Given the description of an element on the screen output the (x, y) to click on. 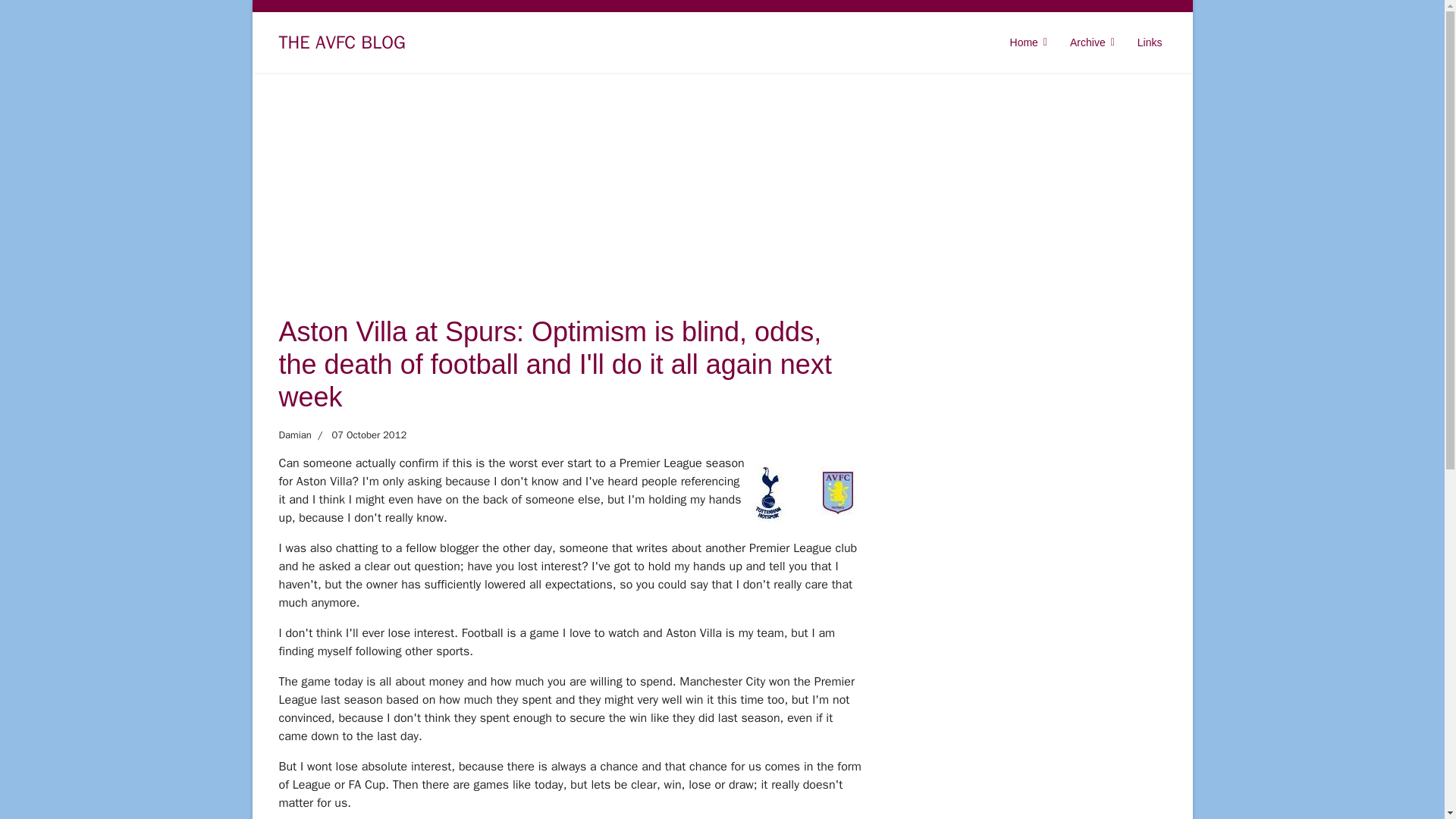
Published: 07 October 2012 (358, 435)
Home (1028, 42)
THE AVFC BLOG (342, 42)
Written by: Damian (295, 435)
Archive (1091, 42)
